Given the description of an element on the screen output the (x, y) to click on. 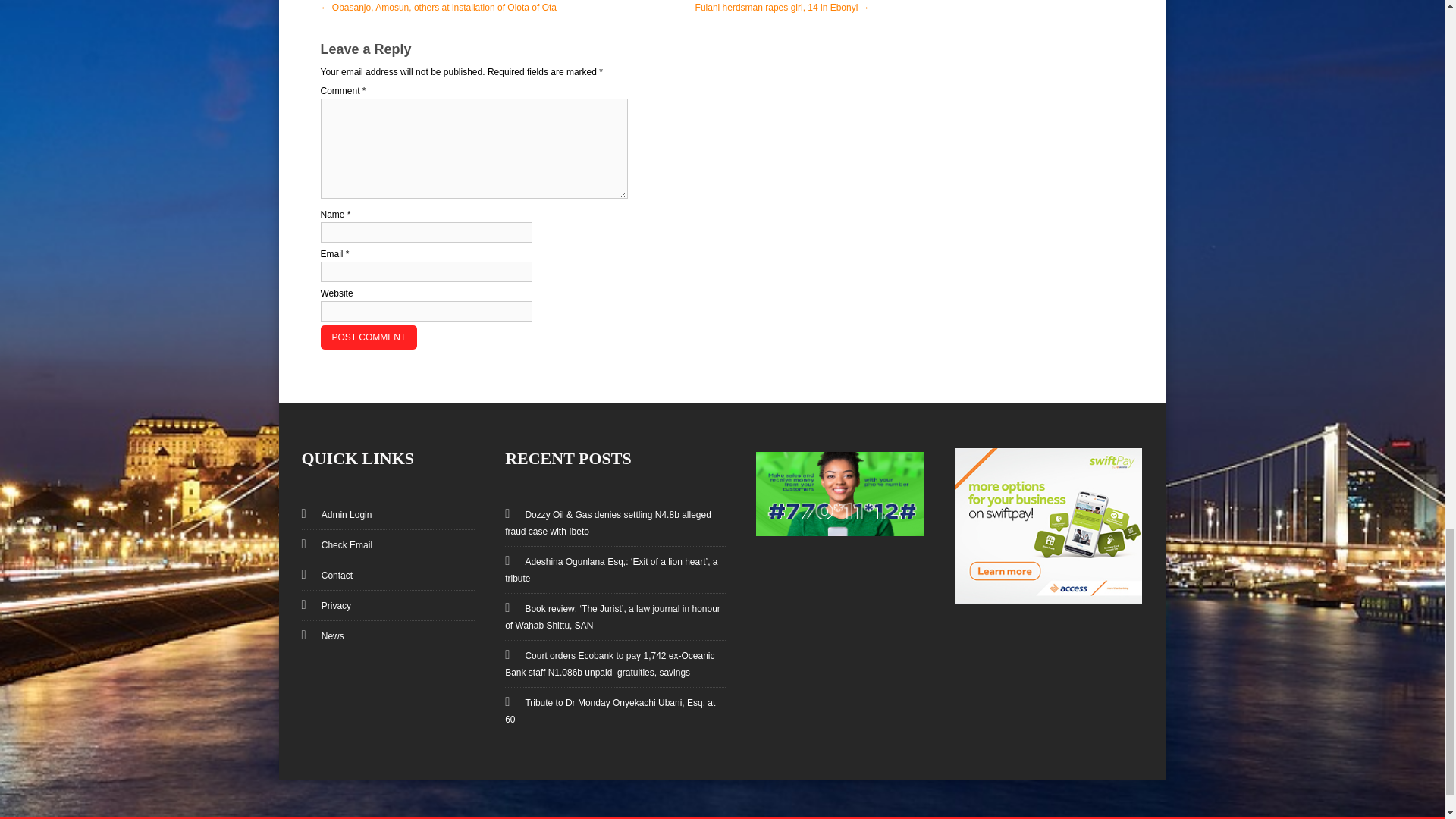
Post Comment (368, 337)
Post Comment (368, 337)
Check Email (338, 544)
Admin Login (338, 514)
Privacy (327, 605)
News (324, 635)
Contact (328, 575)
